Given the description of an element on the screen output the (x, y) to click on. 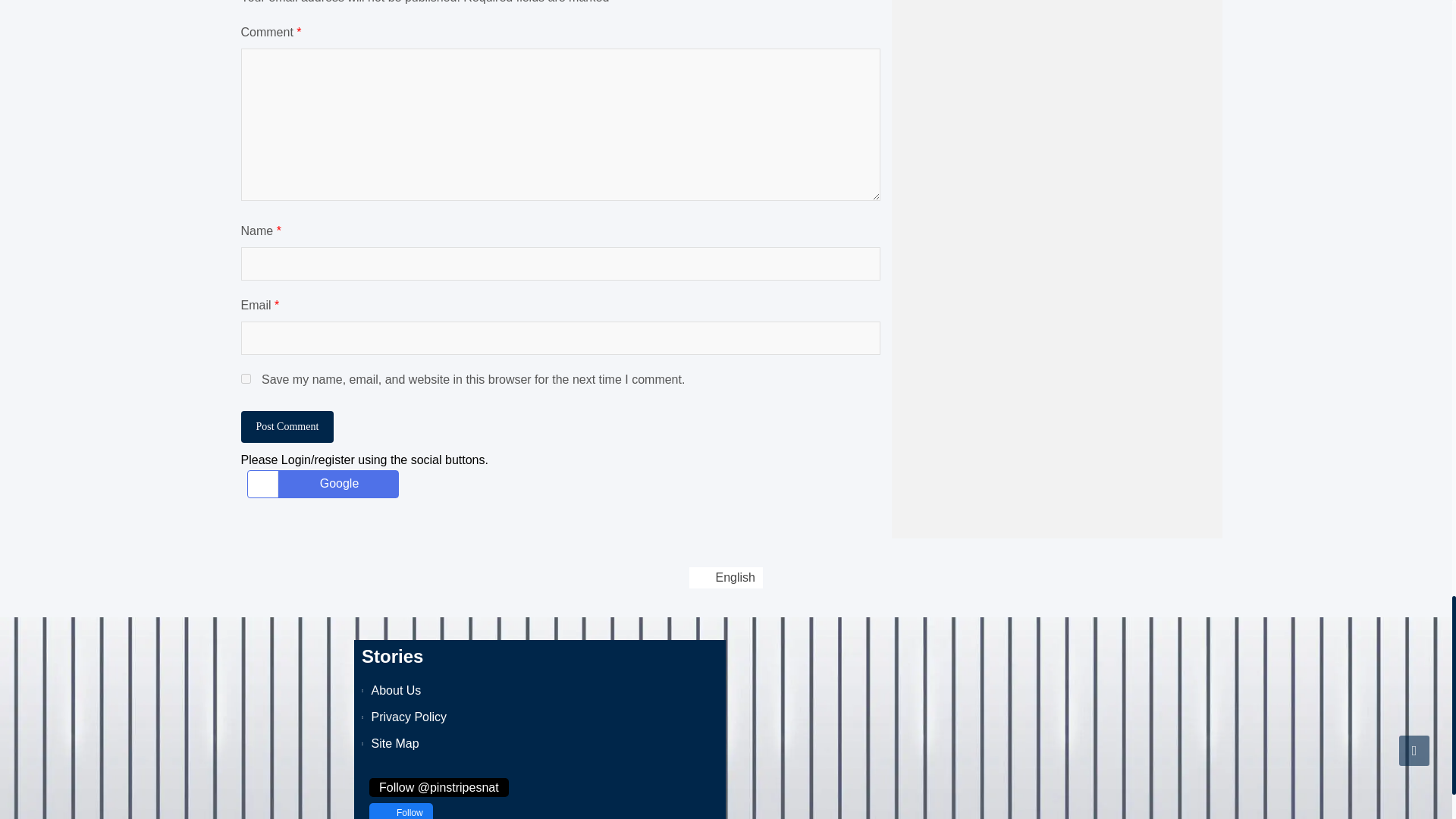
Post Comment (287, 427)
yes (245, 378)
